Given the description of an element on the screen output the (x, y) to click on. 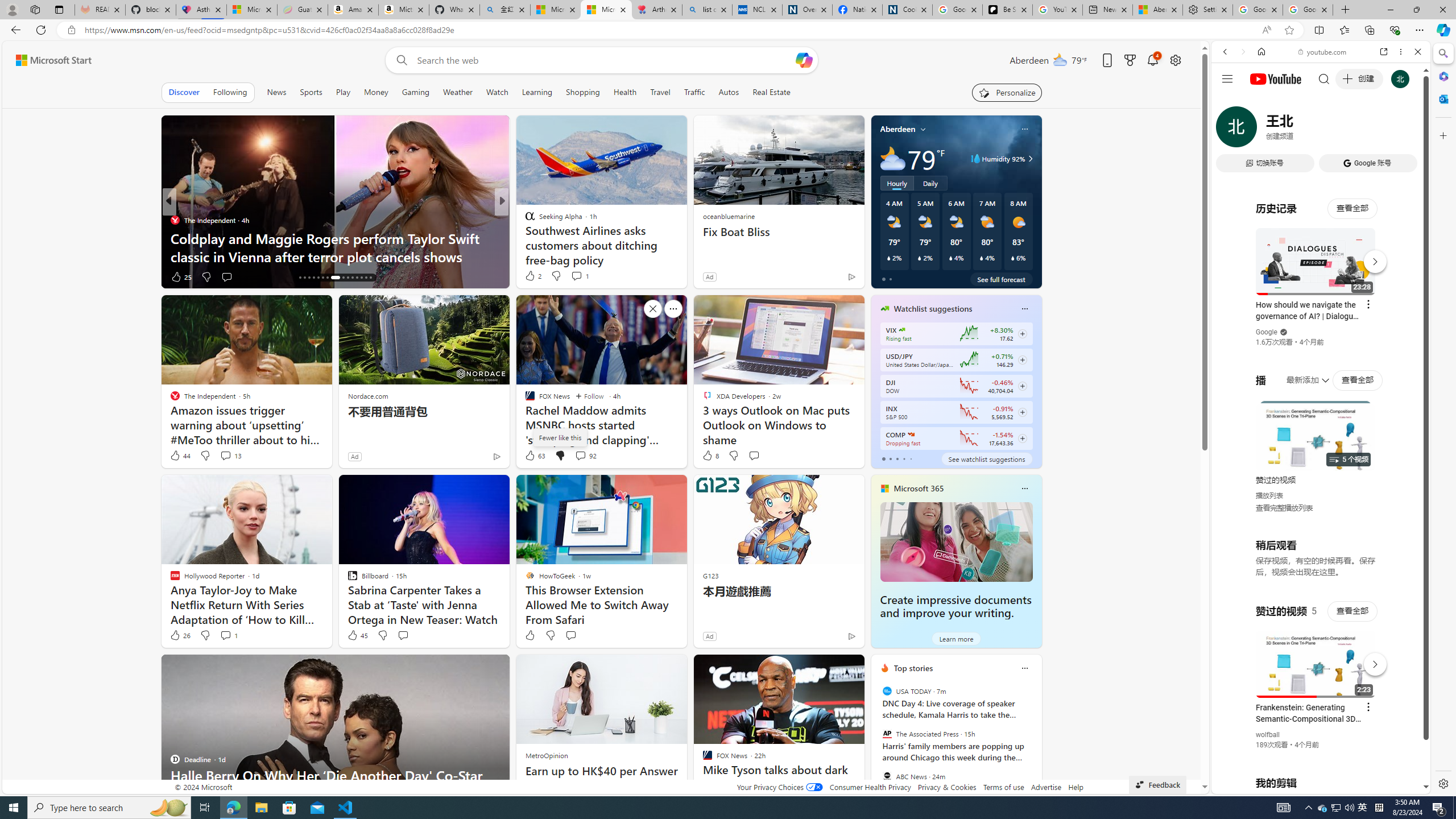
Search Filter, WEB (1230, 129)
Global web icon (1232, 655)
Dislike (550, 634)
AutomationID: tab-22 (327, 277)
Your Privacy Choices (779, 786)
Shopping (583, 92)
Class: b_serphb (1404, 130)
AutomationID: tab-25 (347, 277)
View comments 25 Comment (226, 276)
